Given the description of an element on the screen output the (x, y) to click on. 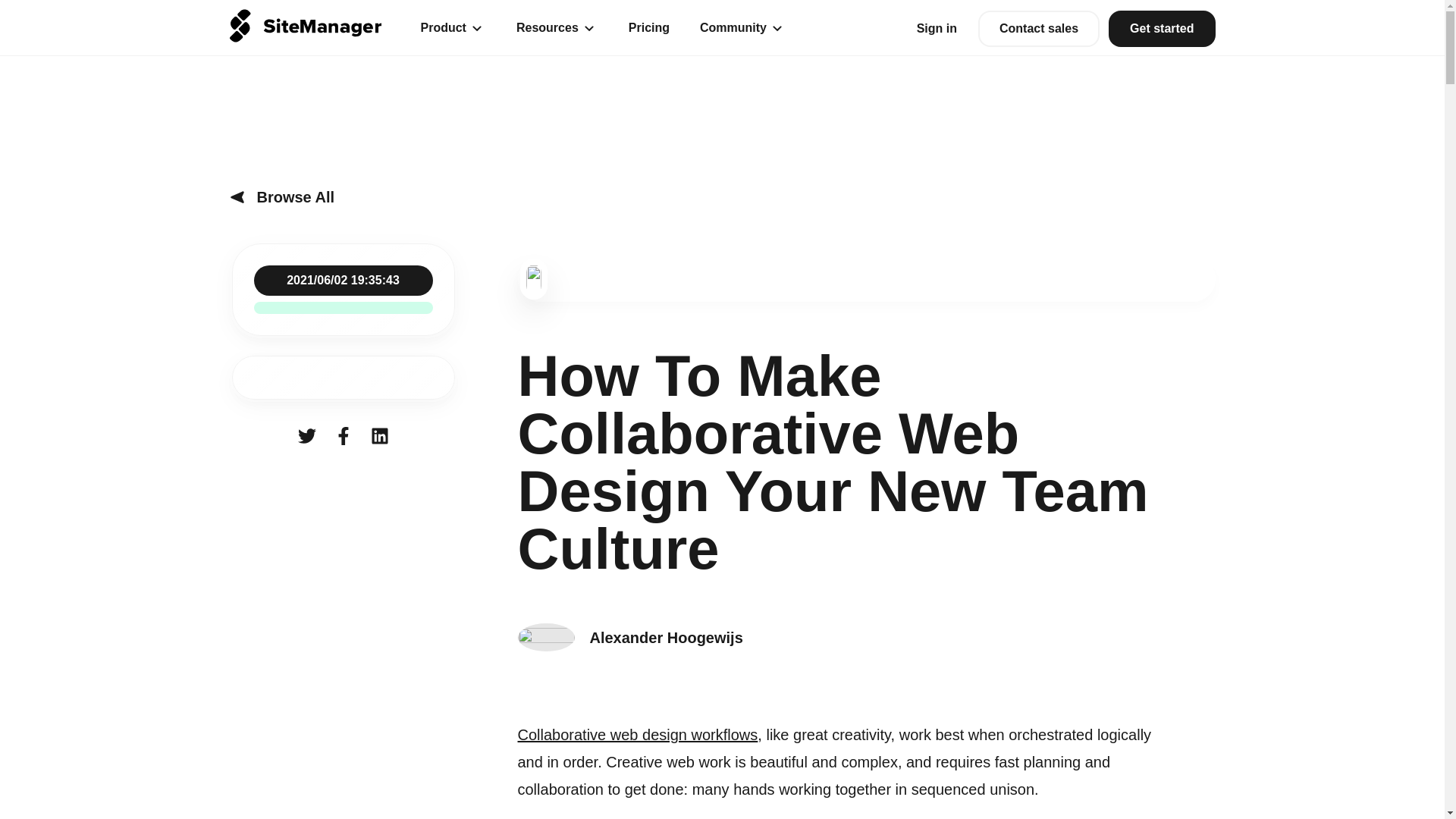
Get started (1161, 28)
Contact sales (1038, 28)
Pricing (648, 27)
Sign in (936, 28)
